Given the description of an element on the screen output the (x, y) to click on. 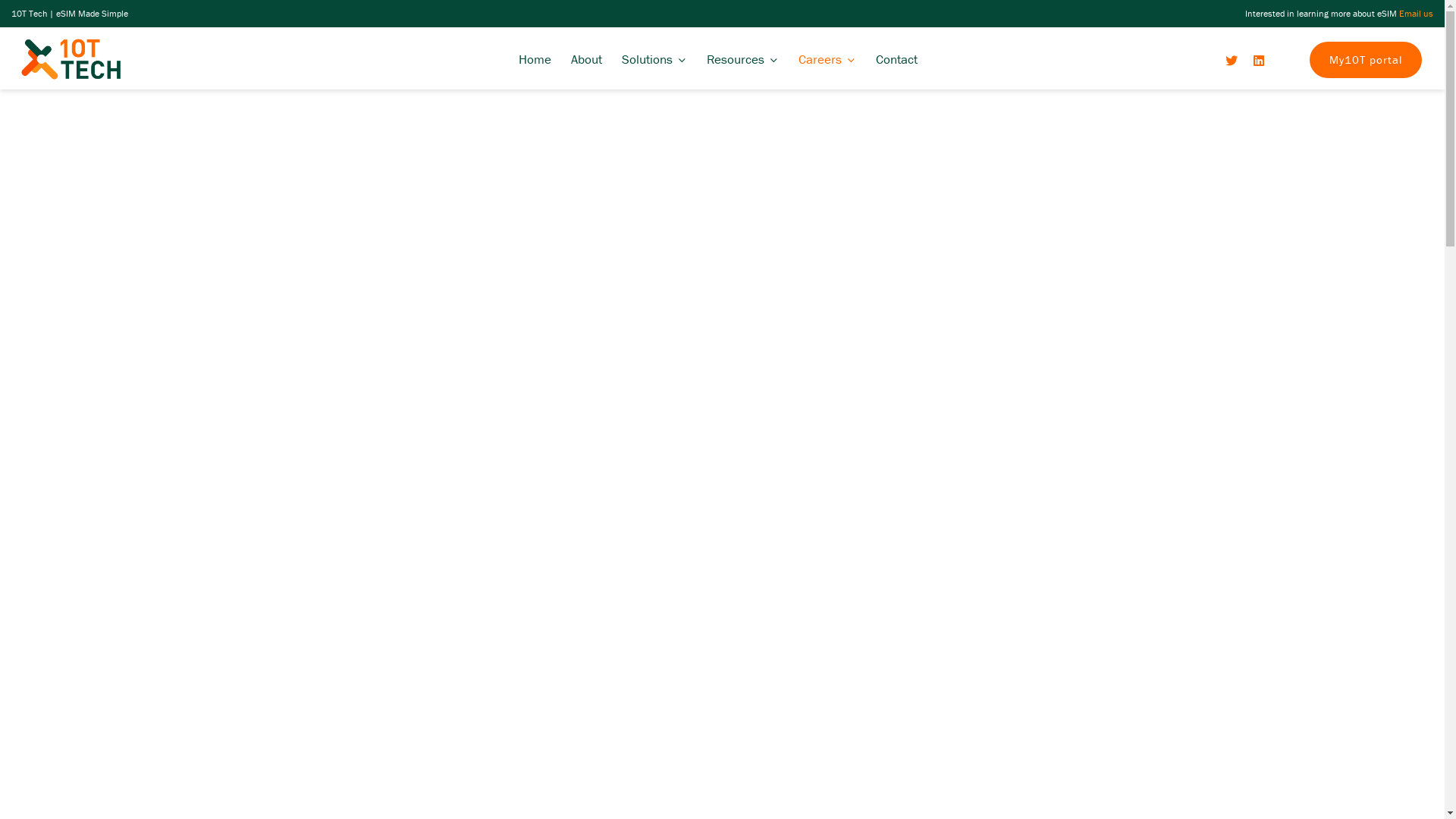
Careers Element type: text (827, 58)
Contact Element type: text (896, 58)
My10T portal Element type: text (1365, 59)
Email us Element type: text (1416, 12)
Resources Element type: text (742, 58)
Home Element type: text (534, 58)
Solutions Element type: text (654, 58)
About Element type: text (586, 58)
